Given the description of an element on the screen output the (x, y) to click on. 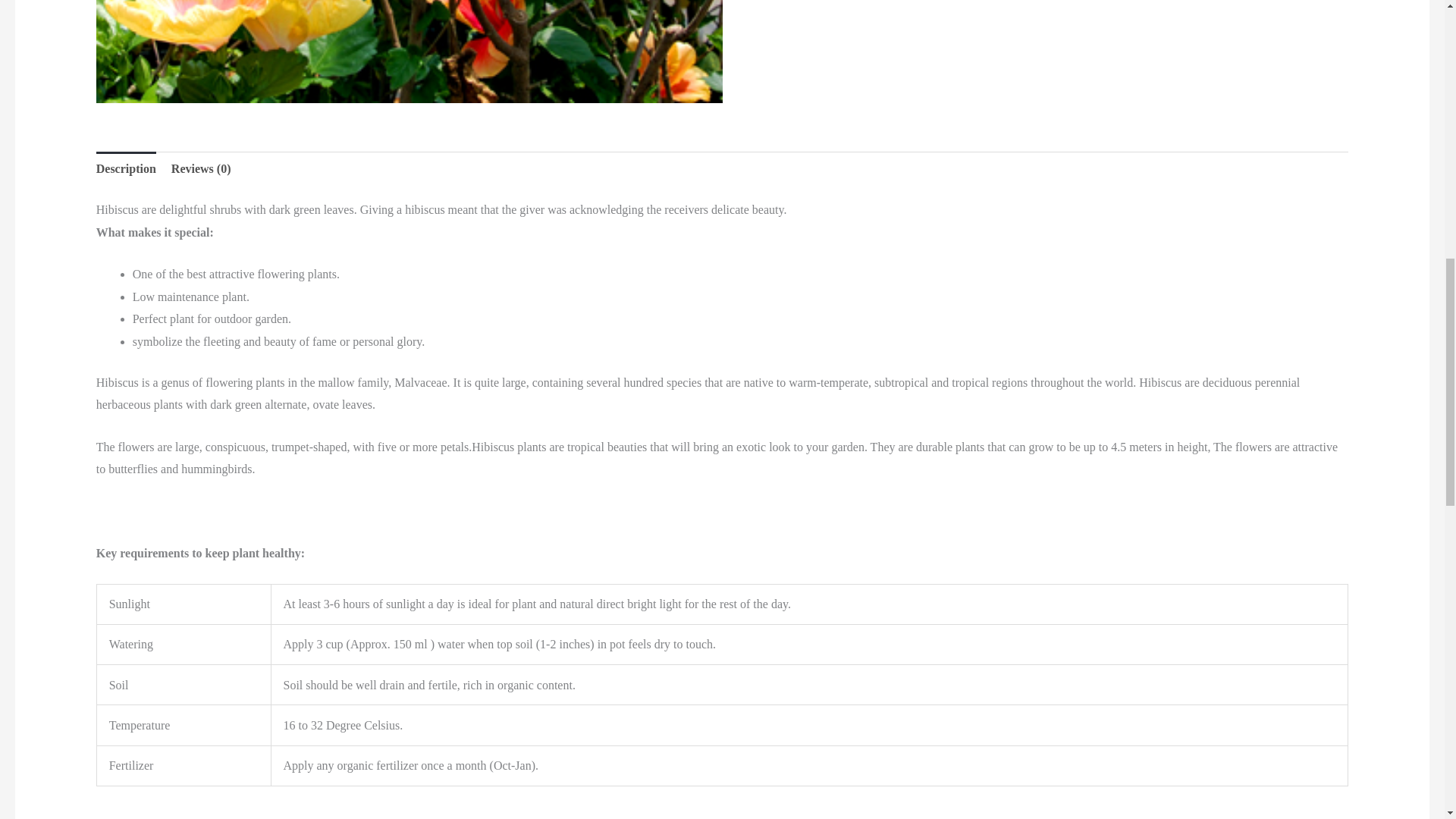
yellowbush (409, 51)
Description (125, 168)
